Given the description of an element on the screen output the (x, y) to click on. 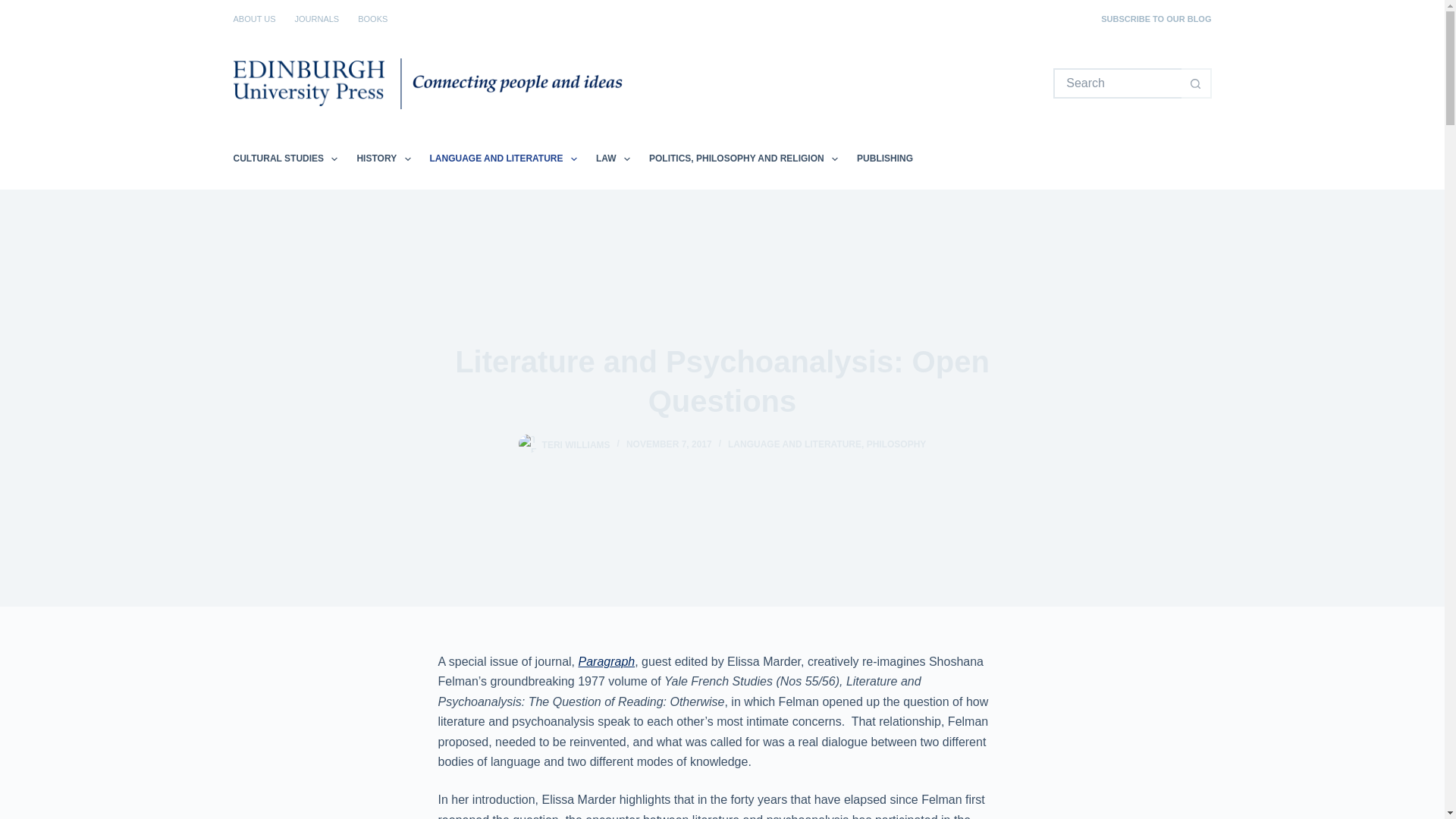
Posts by Teri Williams (575, 443)
Skip to content (15, 7)
Search for... (1116, 82)
Literature and Psychoanalysis: Open Questions (722, 380)
